Given the description of an element on the screen output the (x, y) to click on. 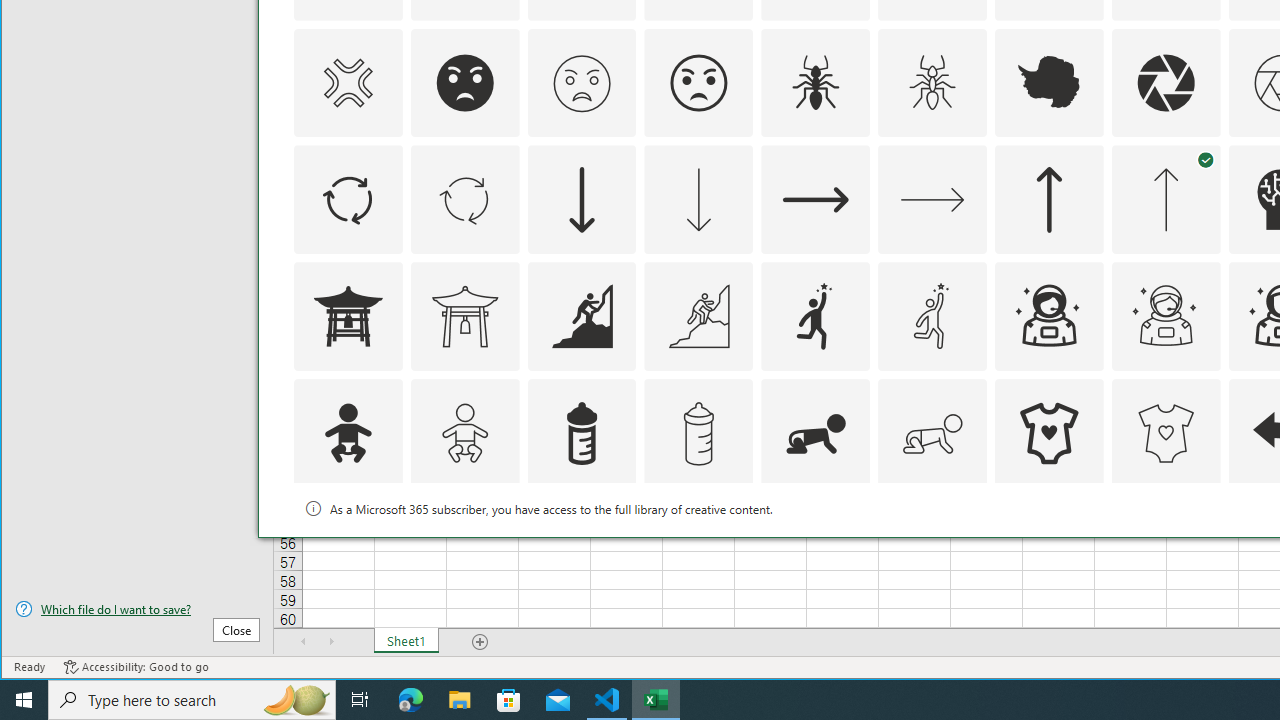
AutomationID: Icons_Aspiration1 (815, 316)
AutomationID: Icons_Aperture (1165, 82)
AutomationID: Icons (1049, 550)
AutomationID: Icons_Badge2 (464, 550)
AutomationID: Icons_Aspiration_M (698, 316)
